Given the description of an element on the screen output the (x, y) to click on. 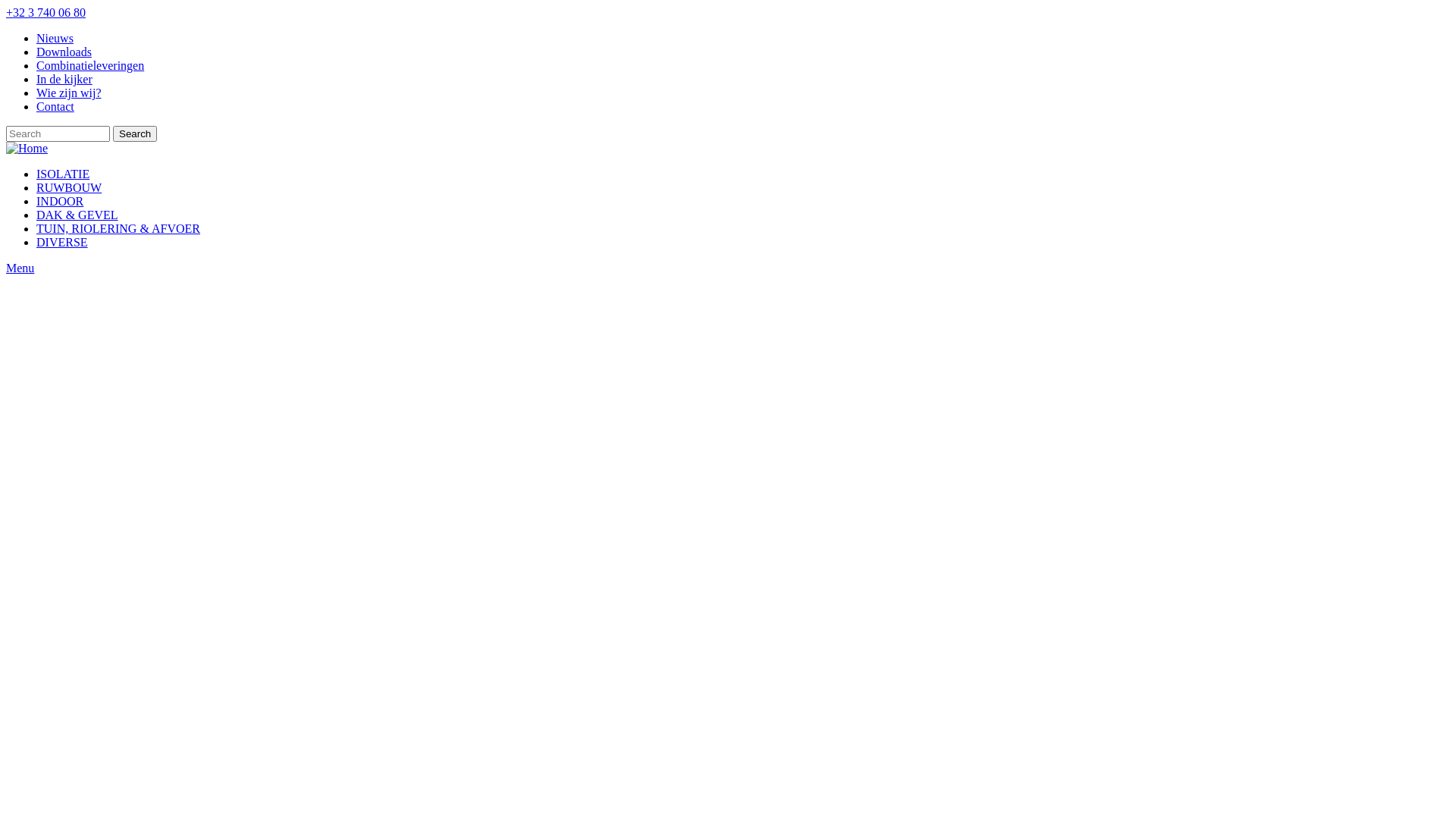
Nieuws Element type: text (54, 37)
In de kijker Element type: text (64, 78)
DIVERSE Element type: text (61, 241)
Menu Element type: text (727, 267)
ISOLATIE Element type: text (62, 173)
INDOOR Element type: text (59, 200)
Search Element type: text (134, 133)
Downloads Element type: text (63, 51)
DAK & GEVEL Element type: text (77, 214)
Combinatieleveringen Element type: text (90, 65)
Overslaan en naar de inhoud gaan Element type: text (6, 6)
Contact Element type: text (55, 106)
Wie zijn wij? Element type: text (68, 92)
Geef de woorden op waarnaar u wilt zoeken. Element type: hover (57, 133)
+32 3 740 06 80 Element type: text (45, 12)
TUIN, RIOLERING & AFVOER Element type: text (118, 228)
RUWBOUW Element type: text (68, 187)
